Given the description of an element on the screen output the (x, y) to click on. 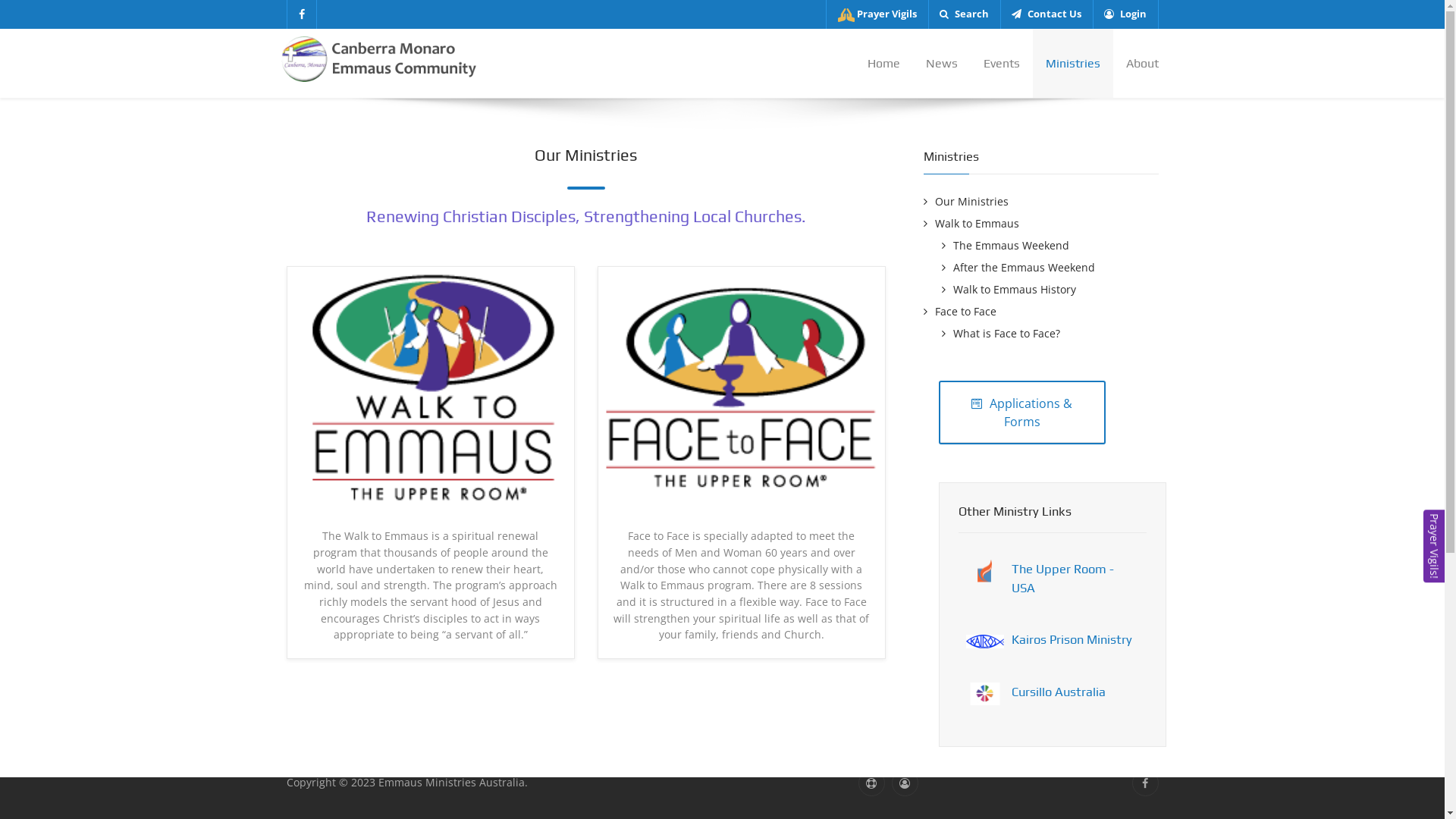
Events Element type: text (1001, 62)
The Emmaus Weekend Element type: text (1005, 245)
Prayer Vigils Element type: text (1027, 500)
Ministries Element type: text (1072, 62)
Applications & Forms Element type: text (1021, 412)
Cursillo Australia Element type: text (1058, 691)
CMEC - Facebook Page Element type: text (351, 543)
Daily Reflections Element type: text (1027, 544)
Our Ministries Element type: text (1040, 201)
Face to Face Element type: text (1040, 311)
Home Element type: text (882, 62)
The Upper Room - USA Element type: text (1062, 578)
Search Element type: text (964, 14)
Login - Registered Users Element type: text (1027, 633)
General Enquiry Element type: text (336, 521)
Contact Us Element type: text (1045, 14)
Australian Emmaus Communities Element type: text (1027, 522)
About Element type: text (1135, 62)
Contact the National webmaster Element type: hover (871, 782)
News Element type: text (941, 62)
Canberra Monaro Emmaus Community Element type: hover (380, 57)
Emmaus Ministries Australia Element type: text (367, 565)
Canberra Monaro Facebook Page Element type: hover (301, 14)
Walk to Emmaus History Element type: text (1008, 289)
Terms & Conditions Element type: text (1027, 611)
Prayer Vigils Element type: text (877, 14)
Contact Us Element type: text (1027, 566)
Walk to Emmaus Element type: text (1040, 223)
What is Face to Face? Element type: text (1000, 333)
After the Emmaus Weekend Element type: text (1018, 267)
Privacy Policy Element type: text (1027, 588)
Kairos Prison Ministry Element type: text (1071, 638)
Canberra Monaro Facebook Page Element type: hover (1144, 782)
Login Element type: text (1124, 14)
Login - Registered Users Element type: hover (904, 782)
